Given the description of an element on the screen output the (x, y) to click on. 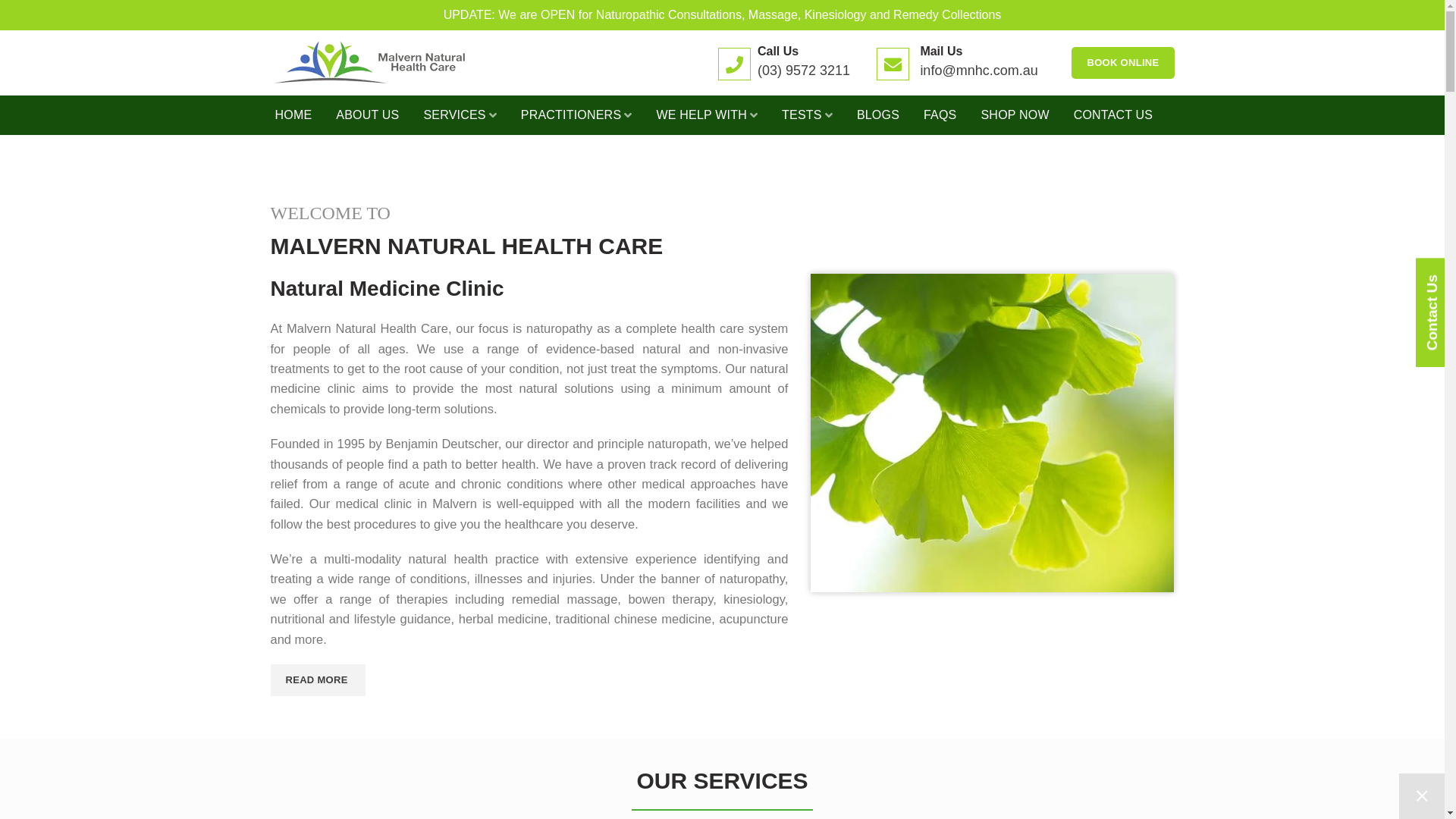
WE HELP WITH Element type: text (706, 114)
CONTACT US Element type: text (1113, 114)
HOME Element type: text (292, 114)
TESTS Element type: text (806, 114)
SHOP NOW Element type: text (1015, 114)
BOOK ONLINE Element type: text (1122, 62)
PRACTITIONERS Element type: text (576, 114)
BLOGS Element type: text (877, 114)
(03) 9572 3211 Element type: text (803, 70)
ABOUT US Element type: text (367, 114)
info@mnhc.com.au Element type: text (978, 70)
FAQS Element type: text (939, 114)
SERVICES Element type: text (459, 114)
